Given the description of an element on the screen output the (x, y) to click on. 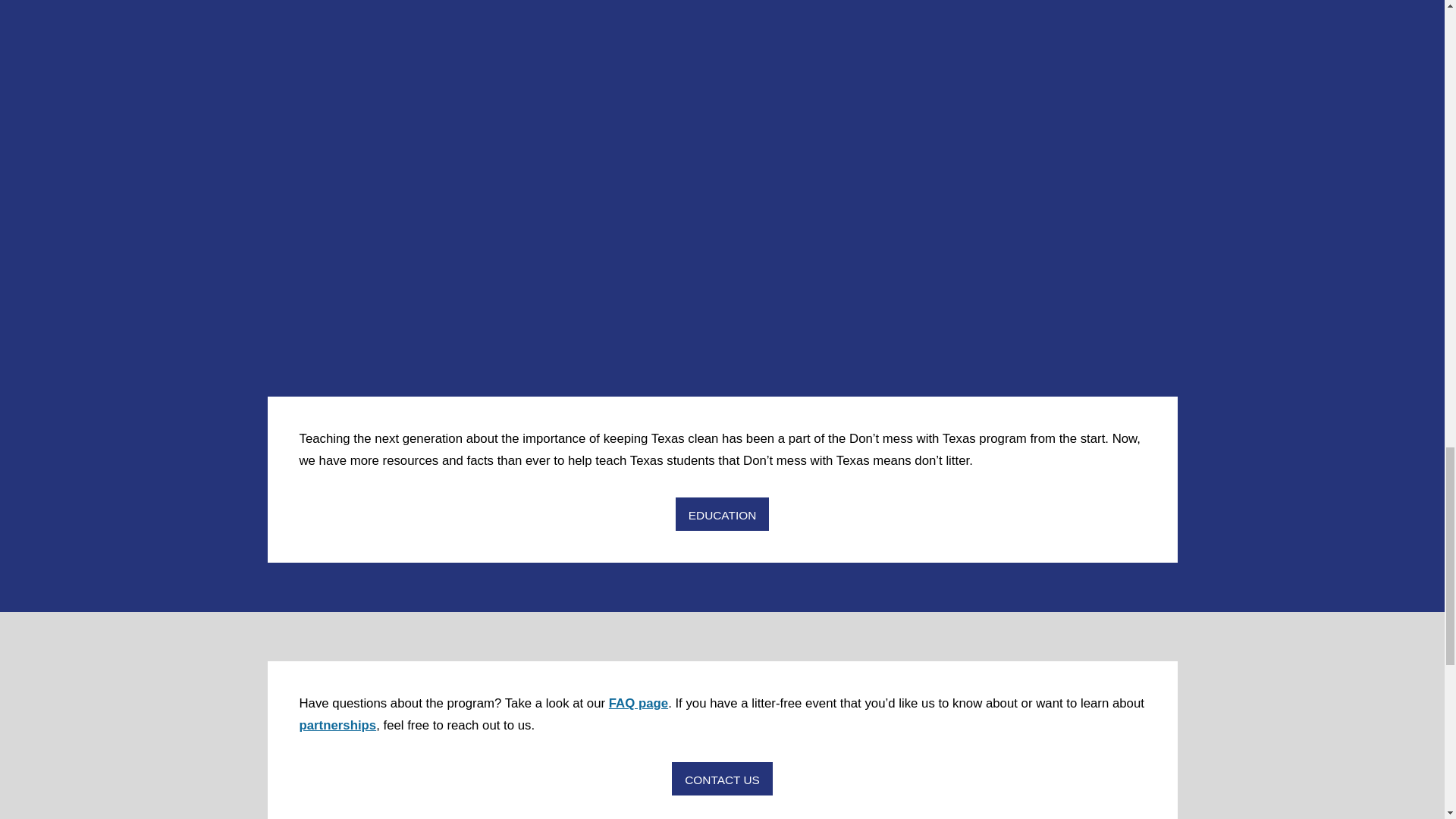
CONTACT US (721, 779)
EDUCATION (721, 514)
FAQ page (638, 703)
partnerships (336, 725)
